Given the description of an element on the screen output the (x, y) to click on. 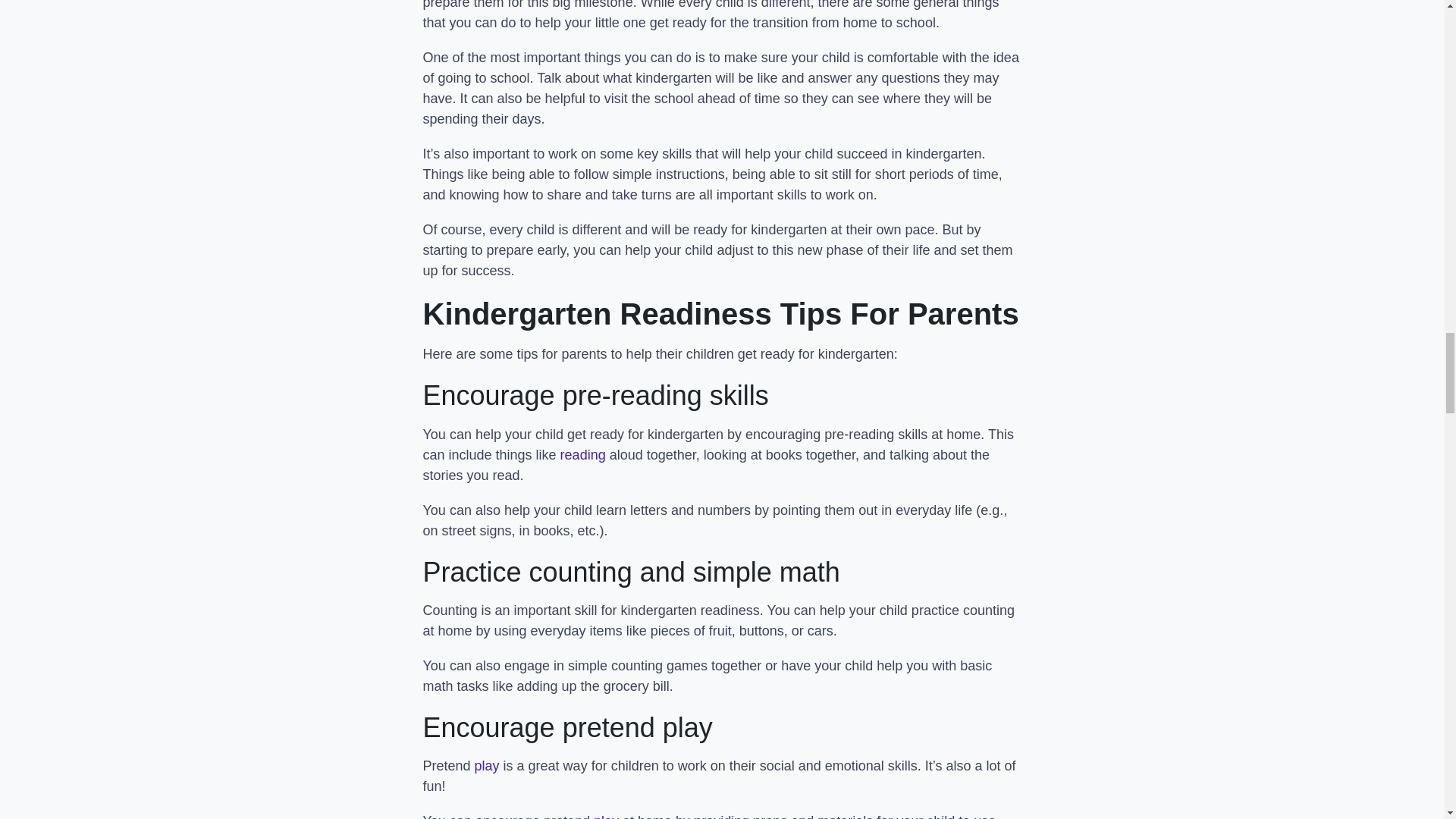
reading (582, 454)
reading (582, 454)
play (606, 816)
play (486, 765)
play (486, 765)
play (606, 816)
